Given the description of an element on the screen output the (x, y) to click on. 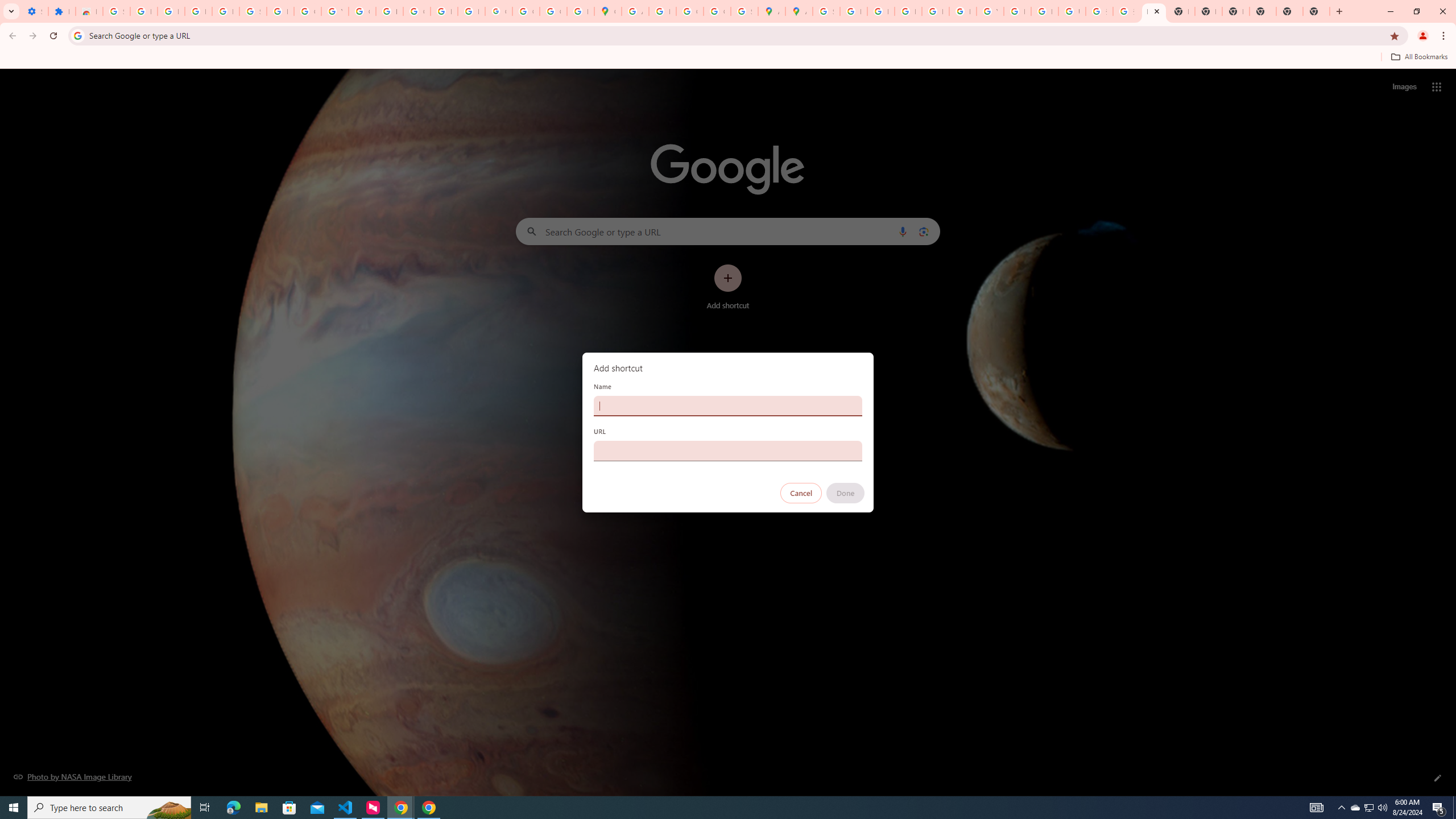
Name (727, 405)
Sign in - Google Accounts (826, 11)
Safety in Our Products - Google Safety Center (743, 11)
Settings - On startup (34, 11)
Cancel (801, 493)
